Given the description of an element on the screen output the (x, y) to click on. 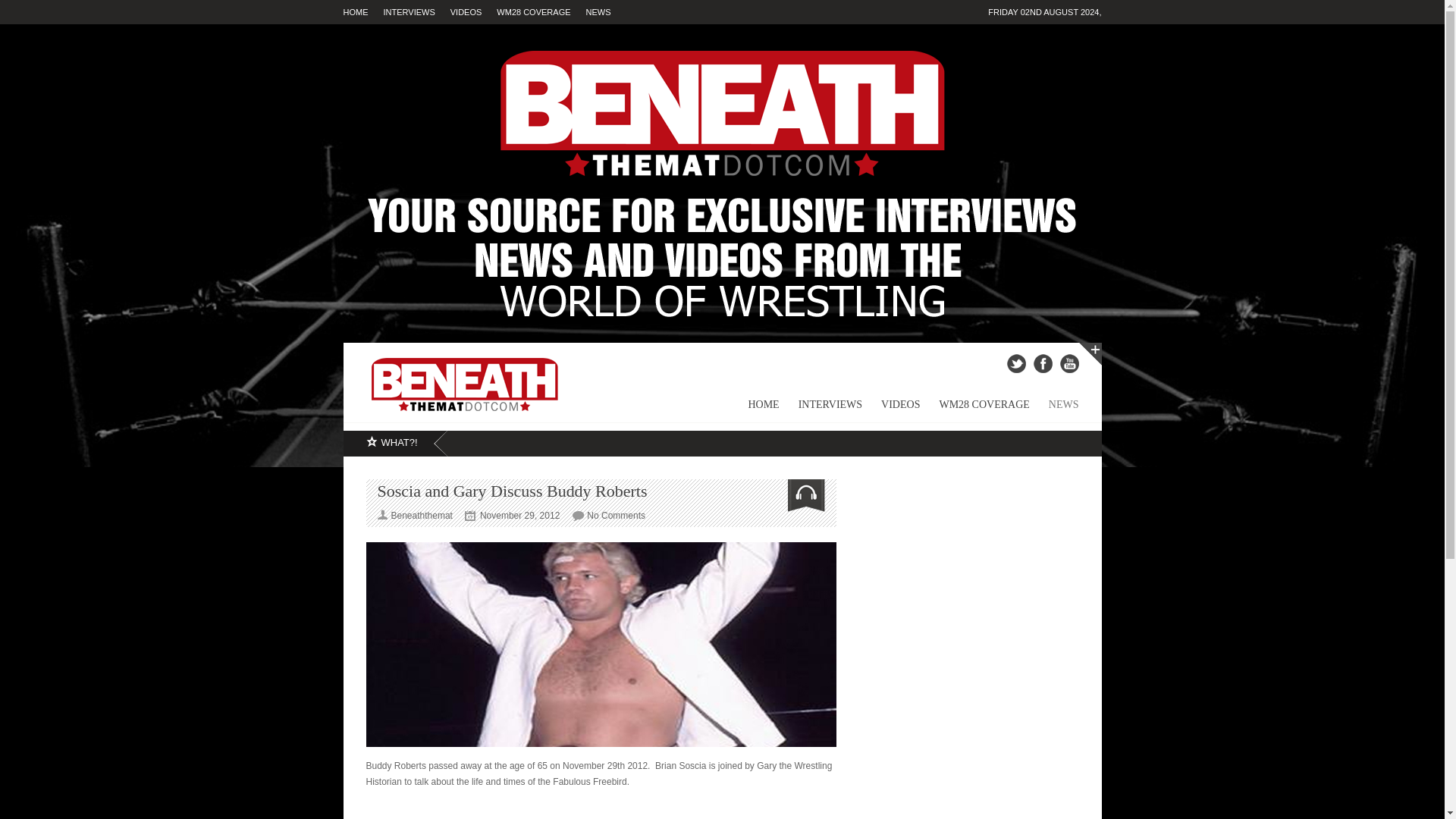
No Comments (615, 515)
YouTube video player (600, 807)
HOME (753, 409)
VIDEOS (473, 12)
WM28 COVERAGE (540, 12)
NEWS (606, 12)
WM28 COVERAGE (974, 409)
HOME (362, 12)
Comment on Soscia and Gary Discuss Buddy Roberts (615, 515)
